Given the description of an element on the screen output the (x, y) to click on. 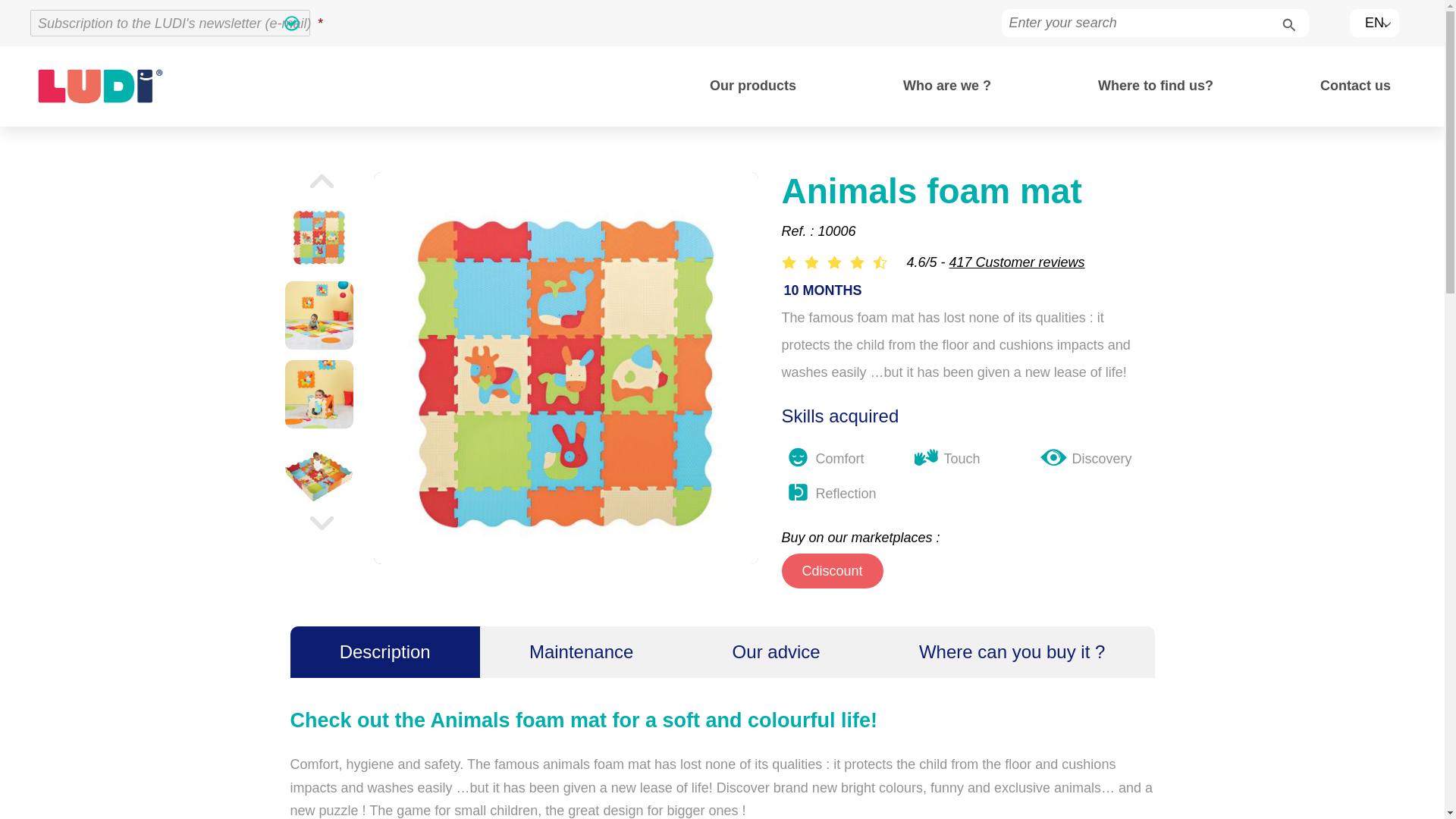
Who are we ? (946, 85)
Where to find us? (1155, 85)
417 Customer reviews (1016, 262)
Search for (1285, 22)
Send (302, 23)
Send (302, 23)
Our products (752, 85)
Search for (1285, 22)
Search for (1285, 22)
Contact us (1355, 85)
